Given the description of an element on the screen output the (x, y) to click on. 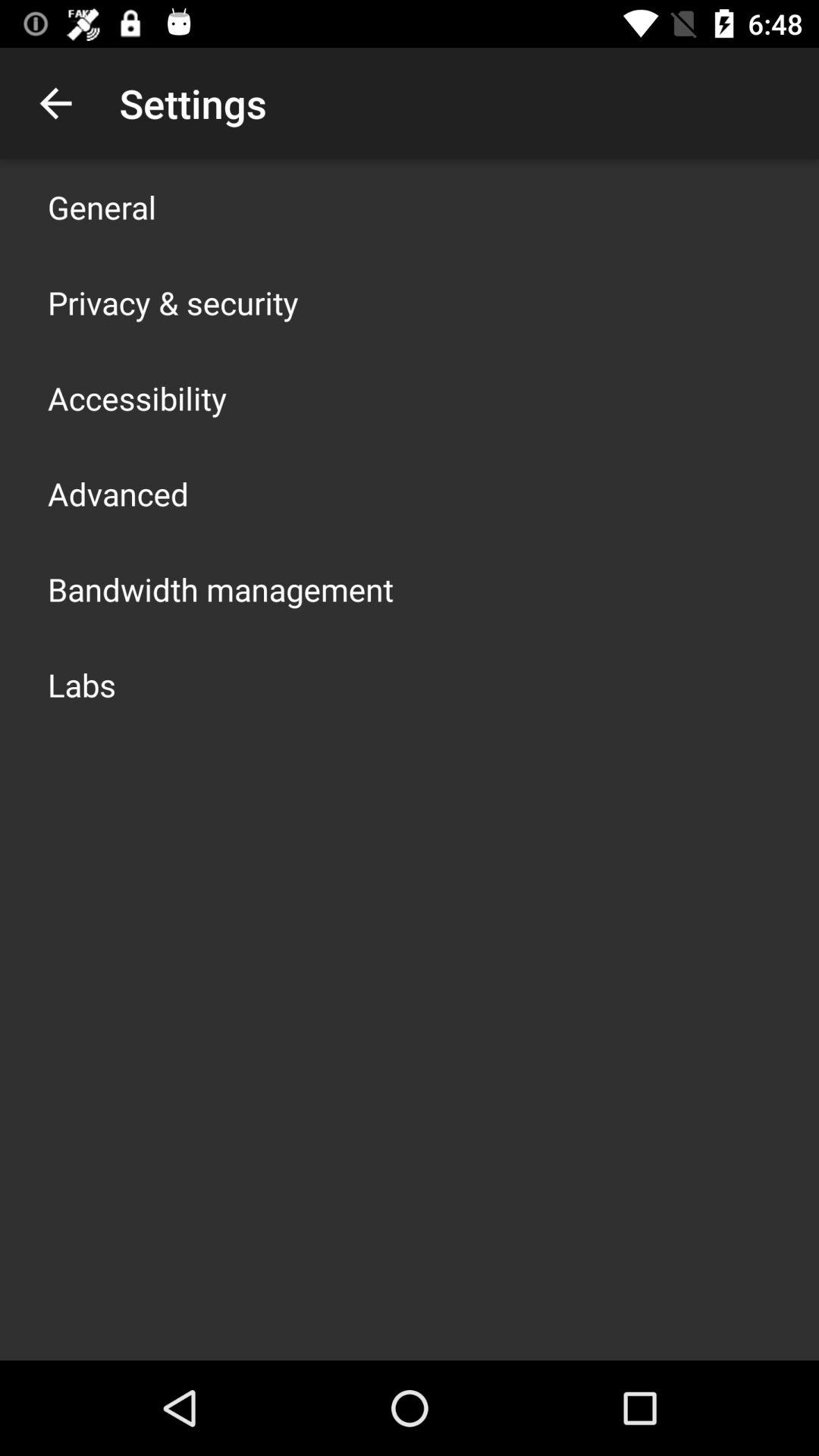
choose privacy & security (172, 302)
